Given the description of an element on the screen output the (x, y) to click on. 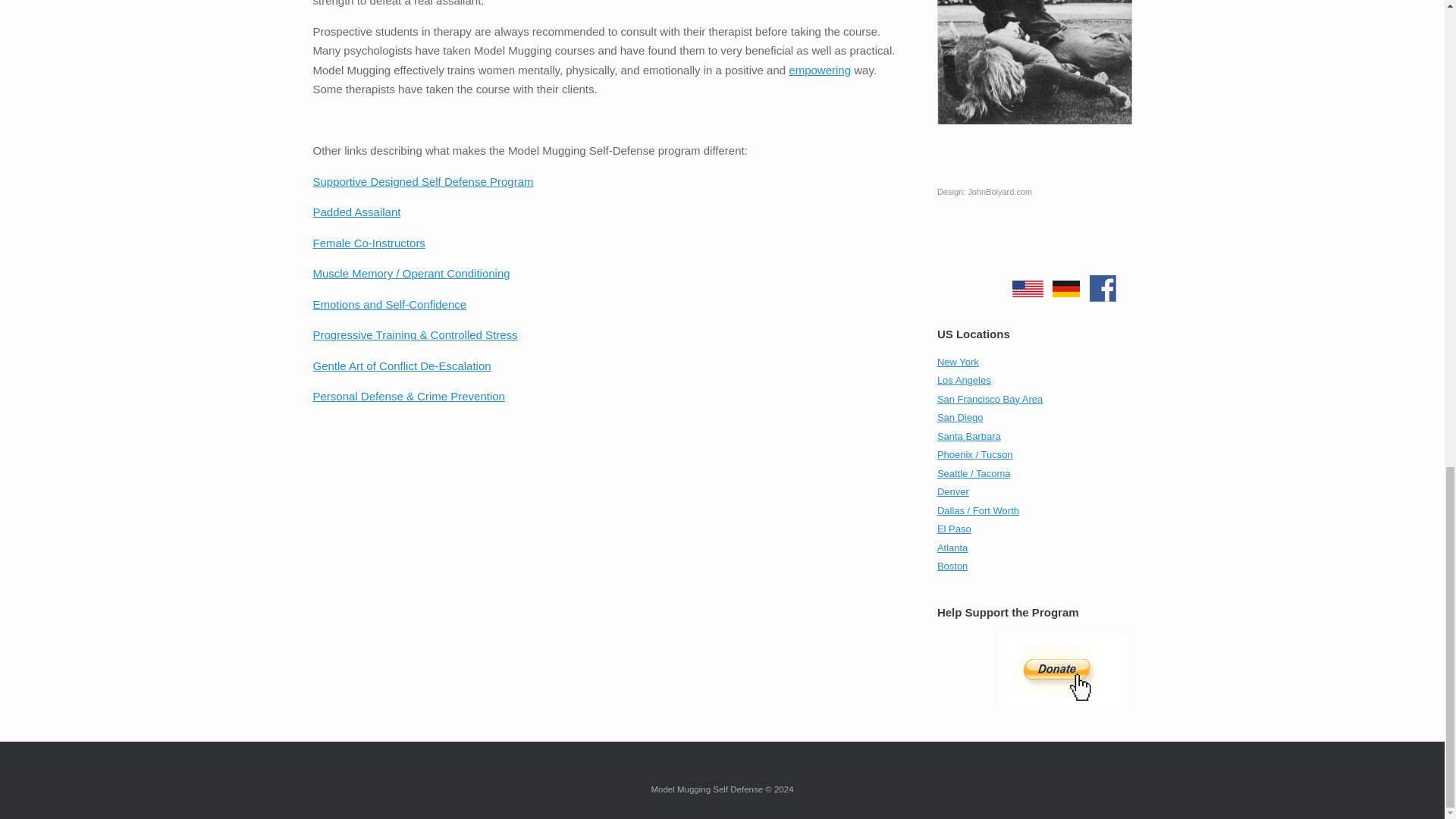
Emotions and Self-Confidence (389, 304)
Progressive Self Defense Training (414, 334)
Supportive Designed Self Defense Program (422, 181)
Feminine Empowerment (819, 69)
Female Co-Instructors (369, 242)
Padded Assailant (356, 211)
